Given the description of an element on the screen output the (x, y) to click on. 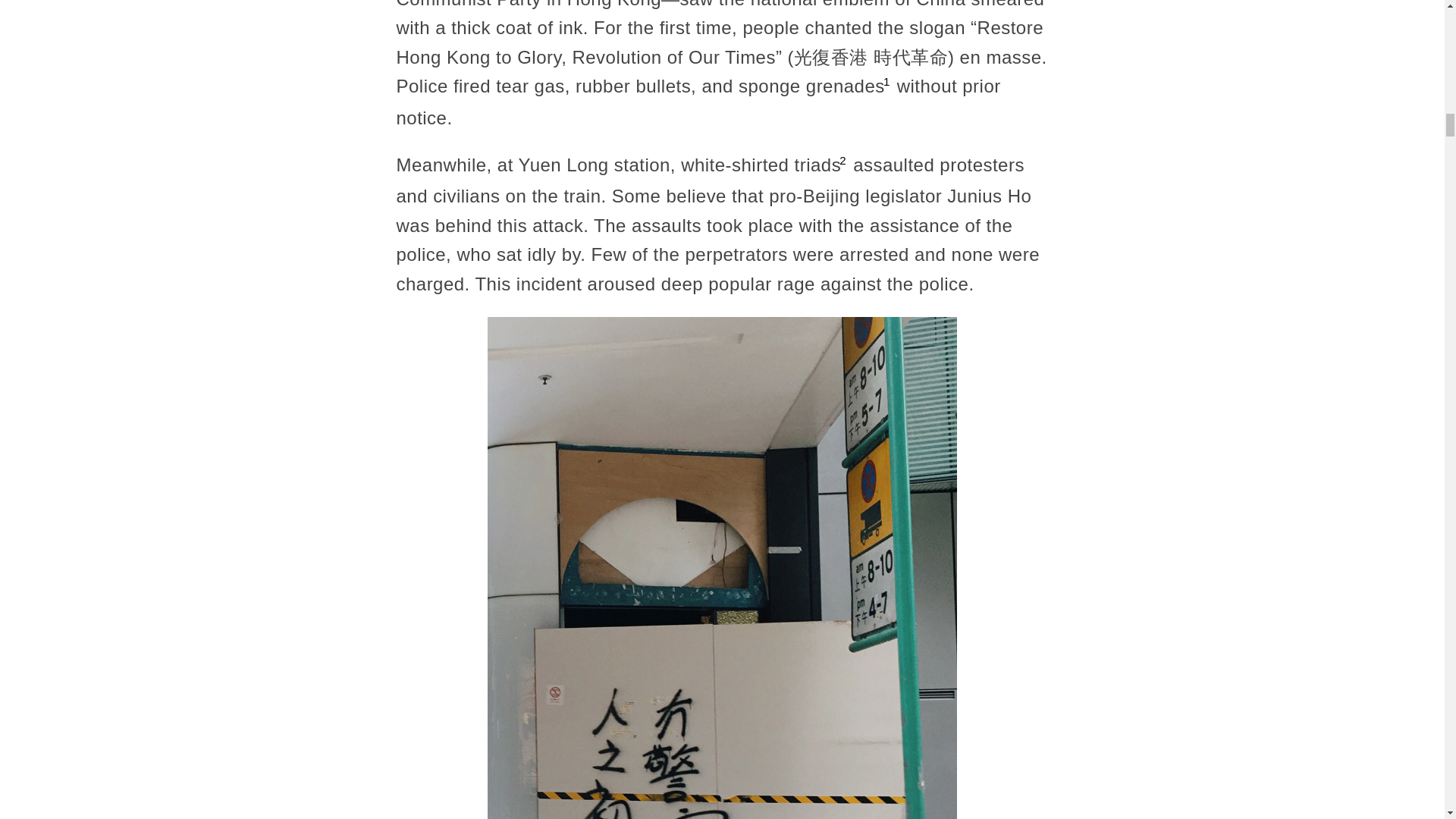
2 (842, 160)
1 (886, 81)
